Given the description of an element on the screen output the (x, y) to click on. 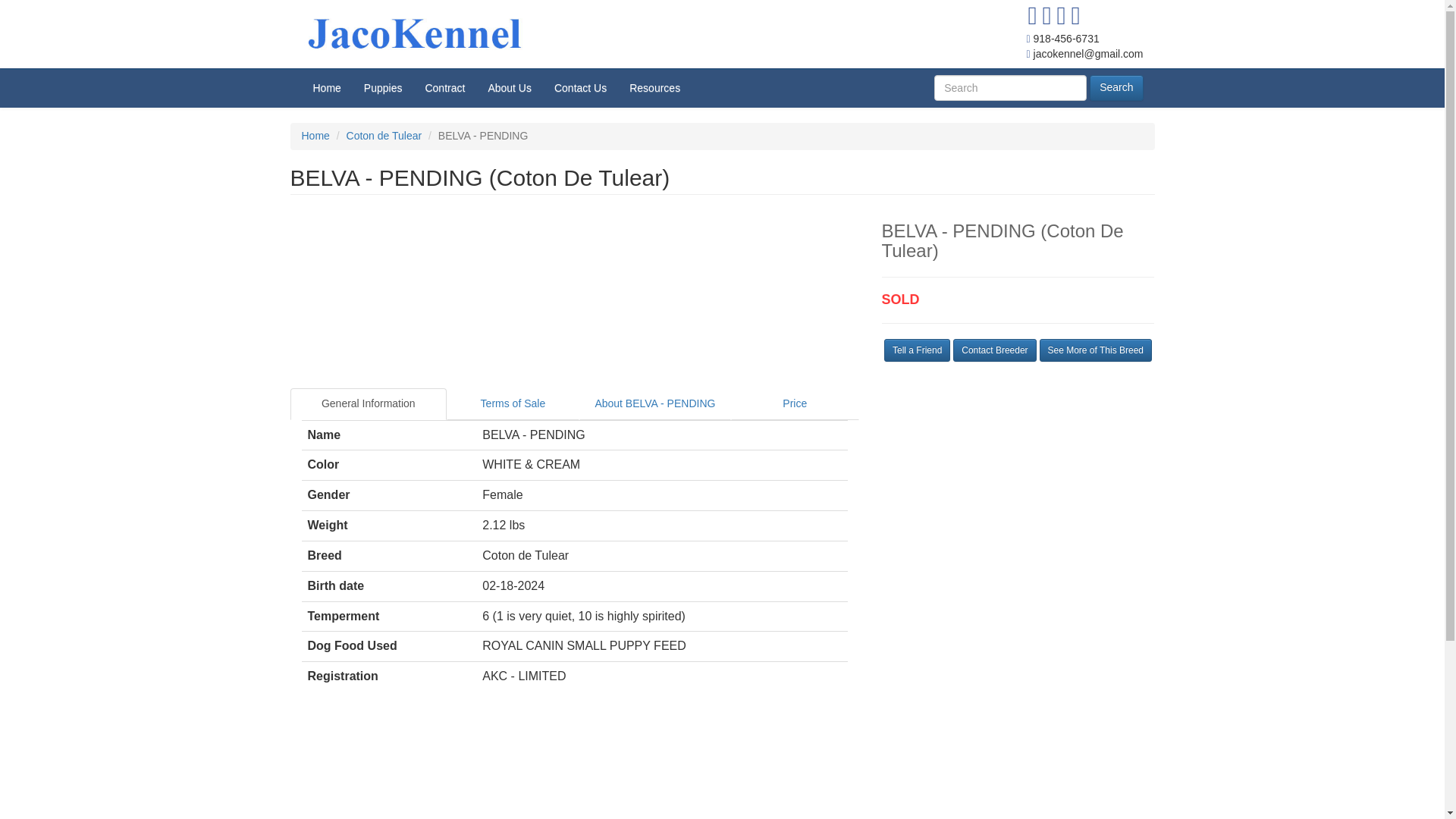
Contact Us (580, 86)
About BELVA - PENDING (654, 404)
Contract (444, 86)
See More of This Breed (1095, 350)
See More of This Breed (1095, 350)
Tell a friend (916, 350)
Tell a Friend (916, 350)
Contact Breeder (994, 350)
Resources (654, 86)
Price (794, 404)
